Given the description of an element on the screen output the (x, y) to click on. 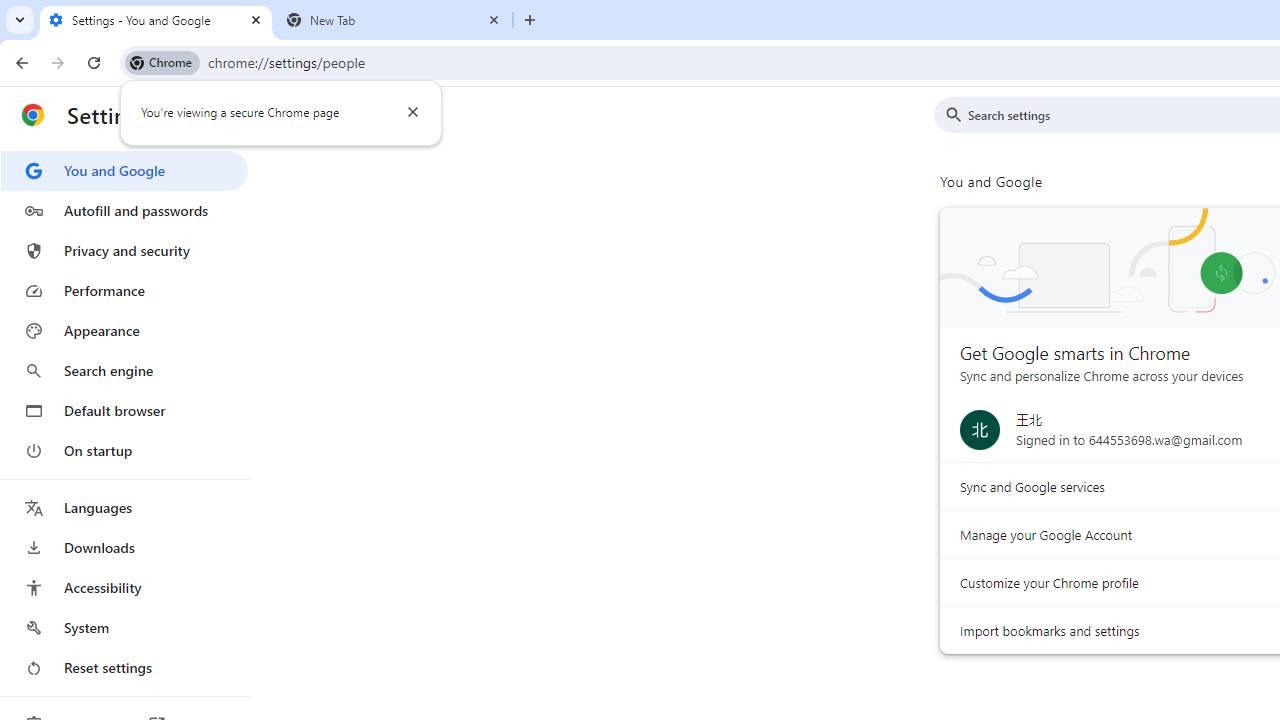
Reset settings (124, 668)
On startup (124, 450)
Performance (124, 290)
Downloads (124, 547)
Appearance (124, 331)
Search engine (124, 370)
Privacy and security (124, 250)
Default browser (124, 410)
